Given the description of an element on the screen output the (x, y) to click on. 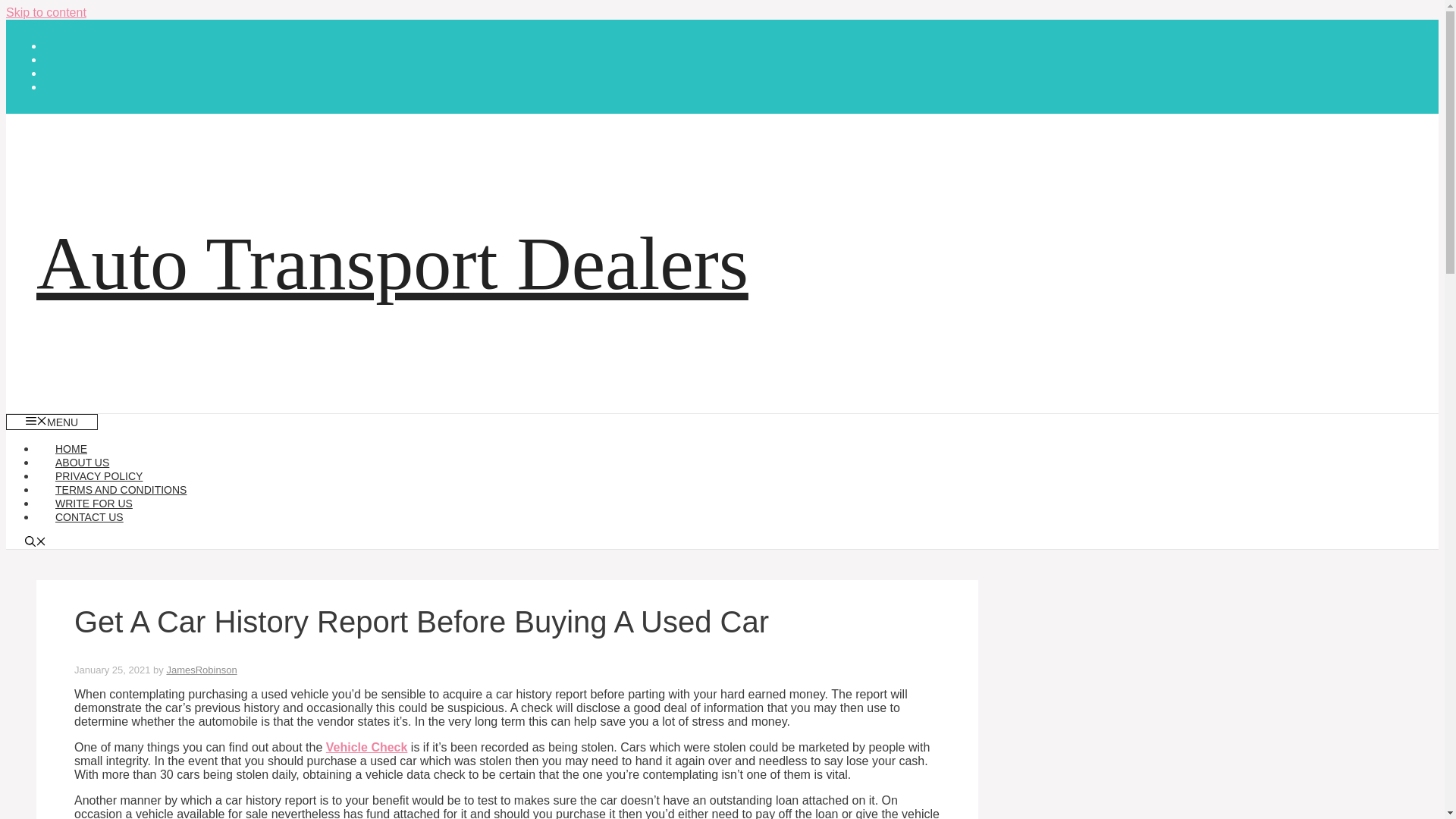
WRITE FOR US (93, 503)
Auto Transport Dealers (392, 263)
HOME (71, 449)
TERMS AND CONDITIONS (120, 490)
PRIVACY POLICY (98, 476)
Vehicle Check (366, 747)
CONTACT US (89, 517)
ABOUT US (82, 462)
Skip to content (45, 11)
JamesRobinson (200, 669)
Skip to content (45, 11)
MENU (51, 421)
View all posts by JamesRobinson (200, 669)
